Given the description of an element on the screen output the (x, y) to click on. 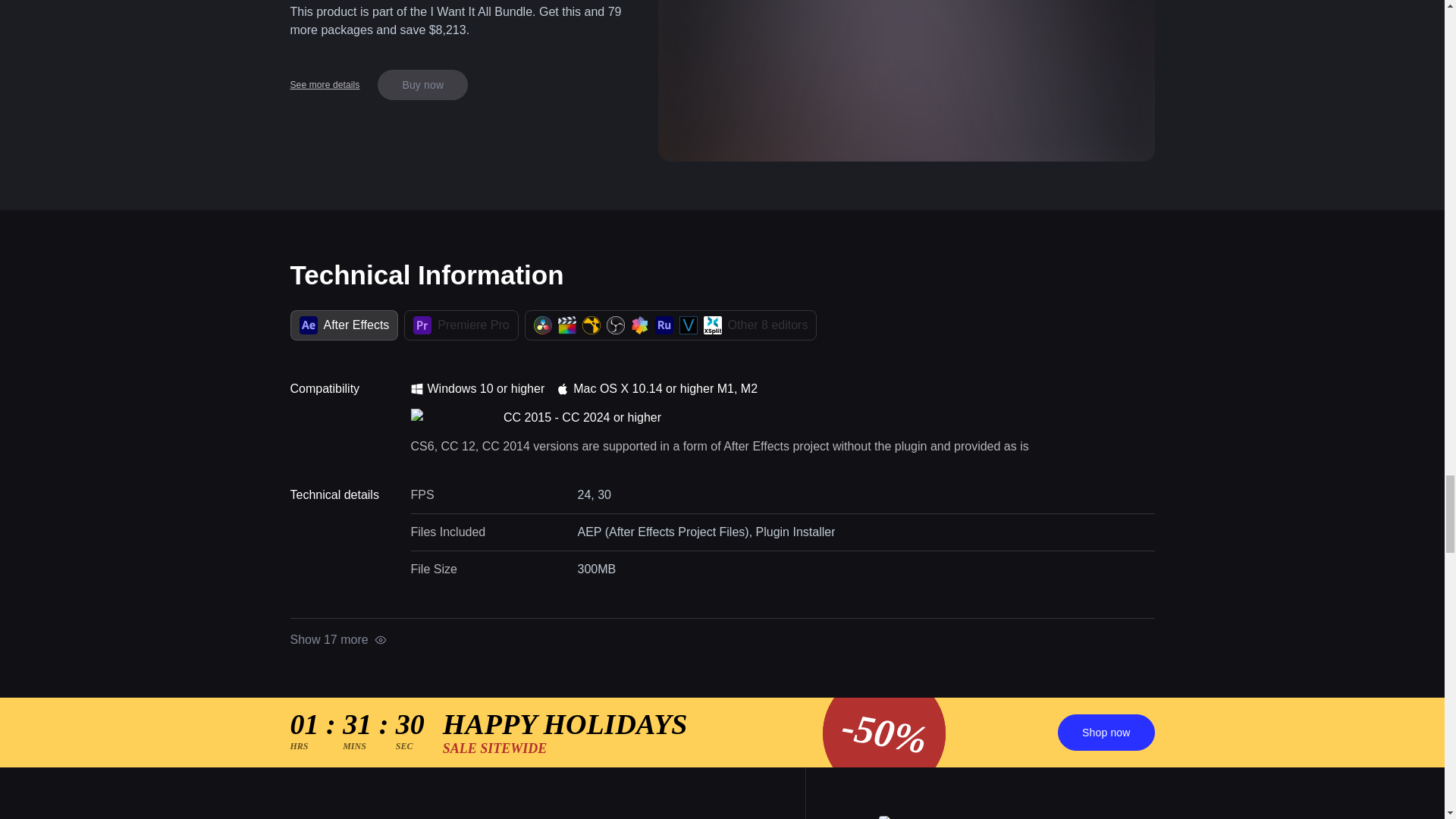
After Effects (343, 325)
Buy now (422, 84)
Shop now (1106, 732)
Premiere Pro (461, 325)
Other 8 editors (670, 325)
Show 17 more (337, 639)
See more details (324, 84)
